Given the description of an element on the screen output the (x, y) to click on. 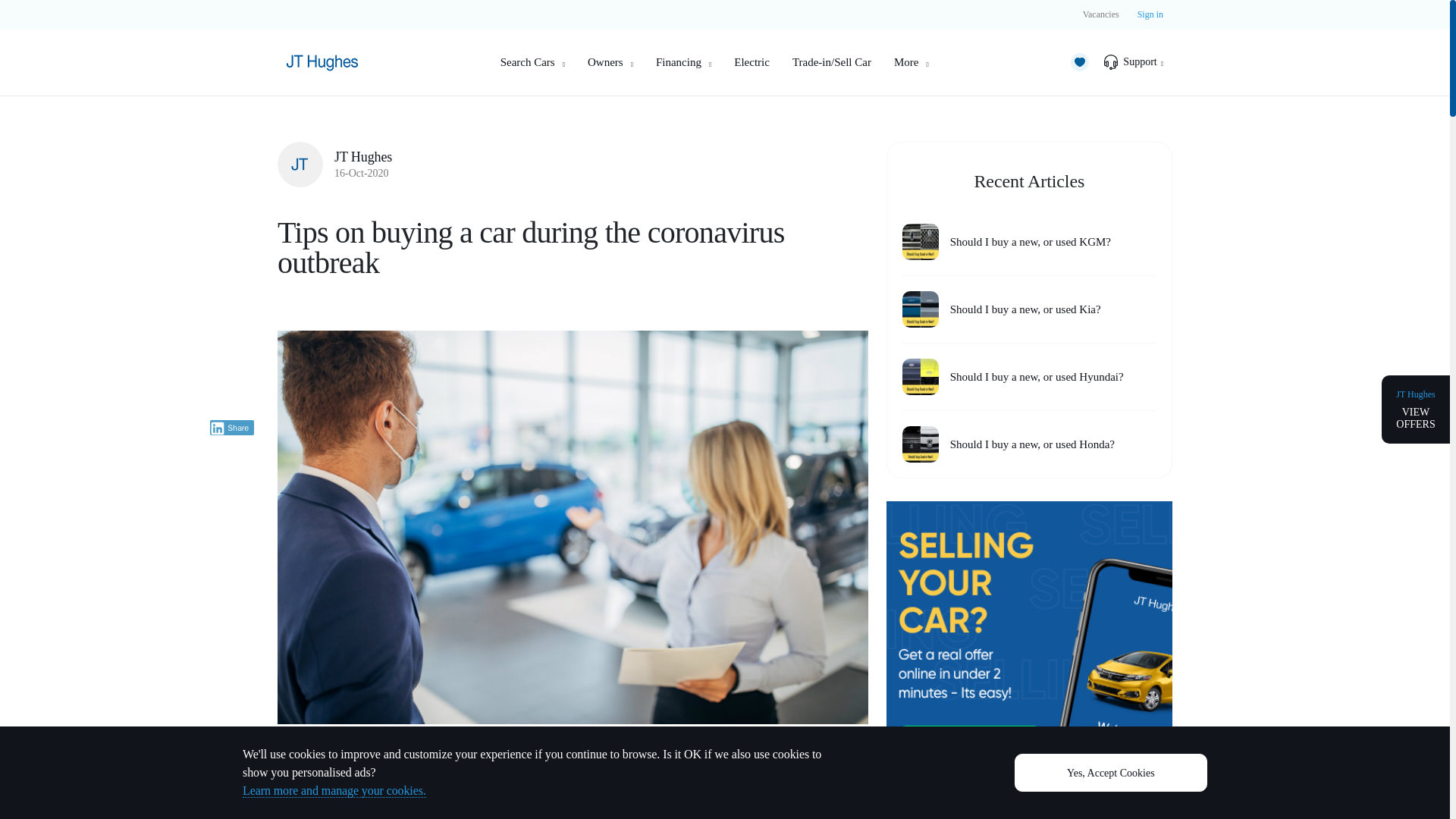
Support (1133, 62)
Sign in (1150, 14)
Search Cars (532, 61)
Vacancies (1101, 14)
Share (232, 418)
